Given the description of an element on the screen output the (x, y) to click on. 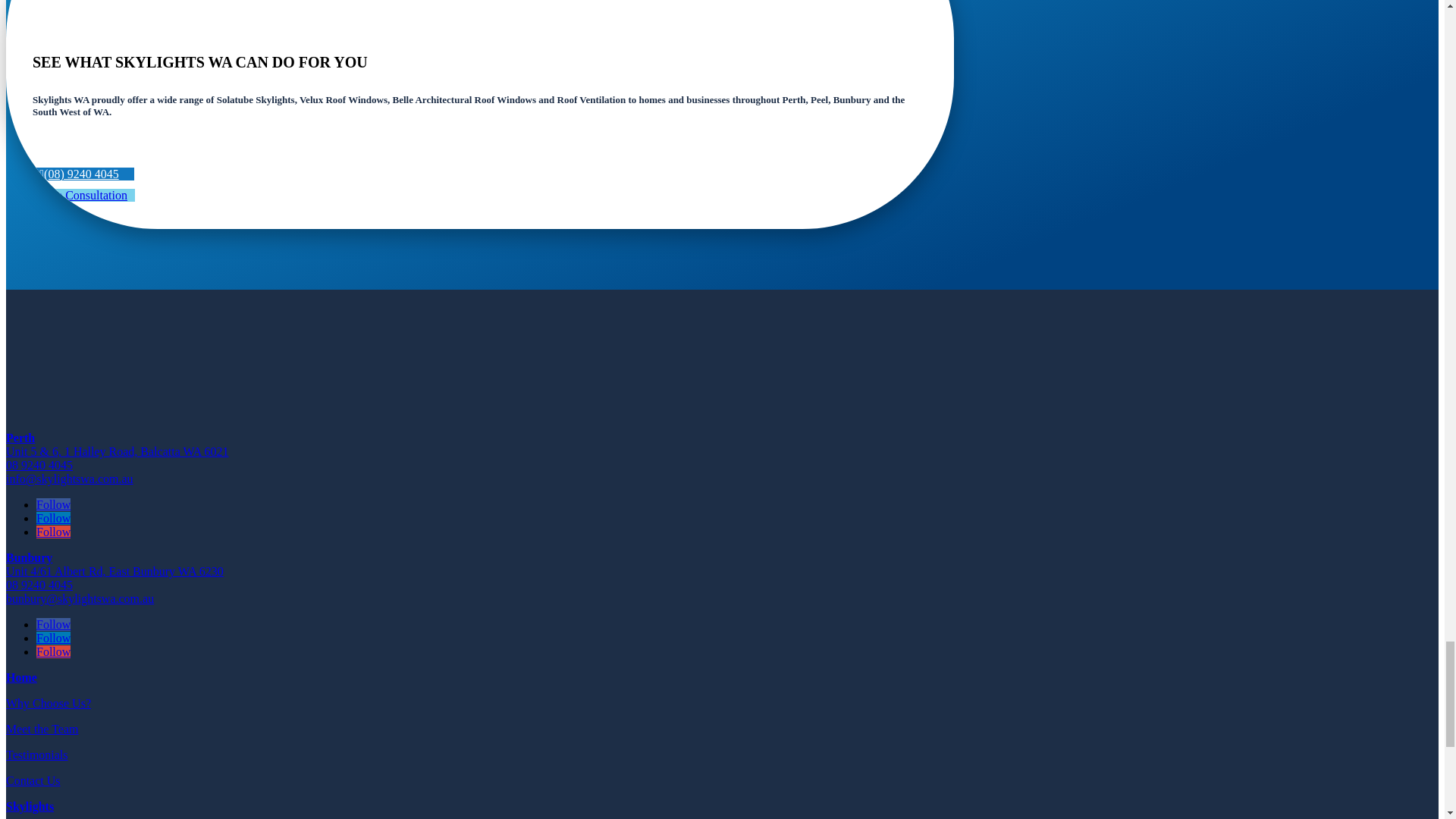
Follow on Facebook (52, 624)
Follow on LinkedIn (52, 517)
Follow on LinkedIn (52, 637)
Follow on google-plus (52, 651)
Skylights WA (111, 383)
Follow on google-plus (52, 531)
Follow on Facebook (52, 504)
